Given the description of an element on the screen output the (x, y) to click on. 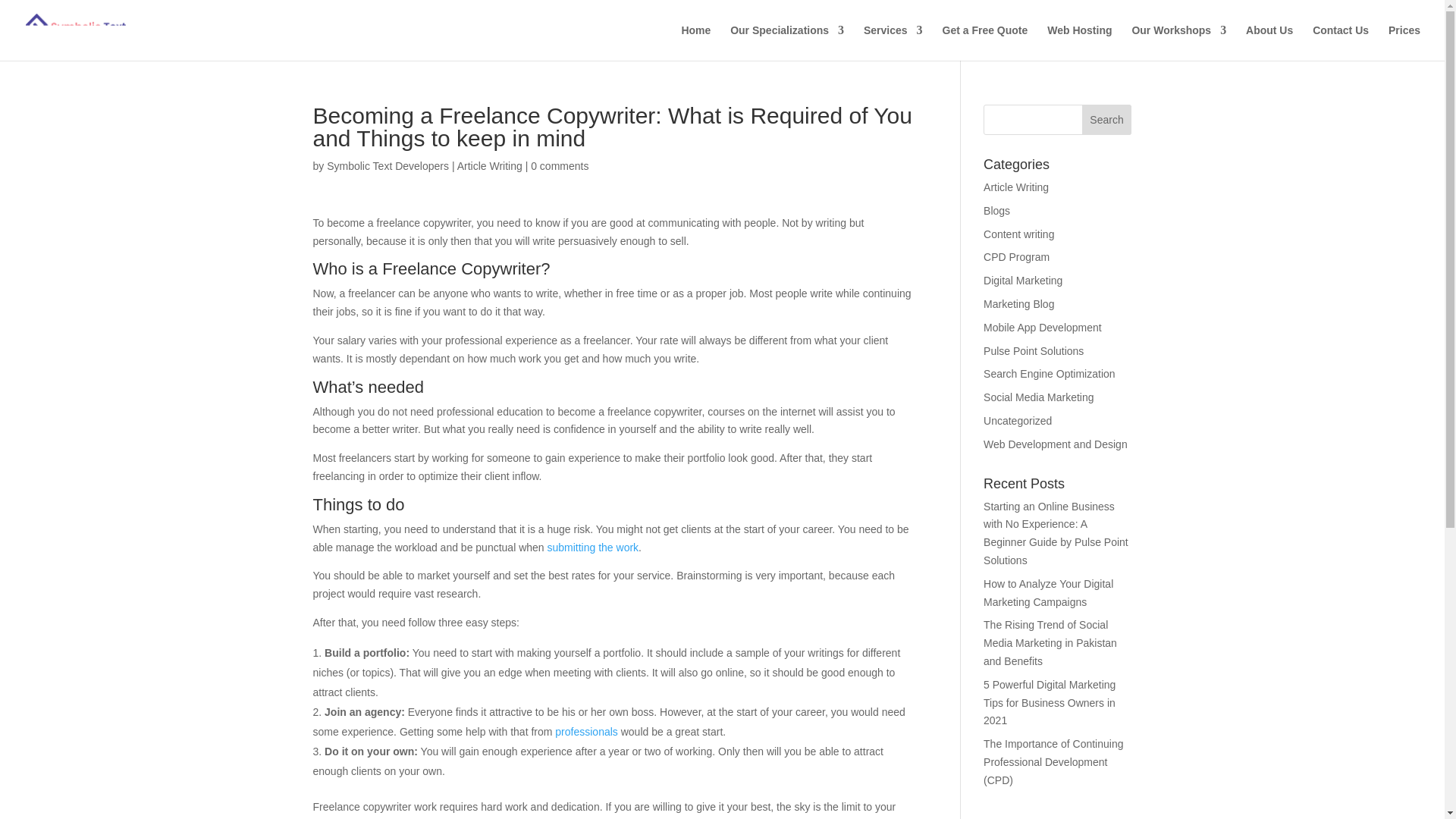
Article Writing (489, 165)
Symbolic Text Developers (387, 165)
Our Specializations (787, 42)
CPD Program (1016, 256)
Digital Marketing (1023, 280)
Blogs (997, 210)
Search (1106, 119)
Services (893, 42)
Get a Free Quote (984, 42)
Contact Us (1340, 42)
Web Hosting (1079, 42)
professionals (585, 731)
Prices (1405, 42)
Our Workshops (1178, 42)
About Us (1269, 42)
